Given the description of an element on the screen output the (x, y) to click on. 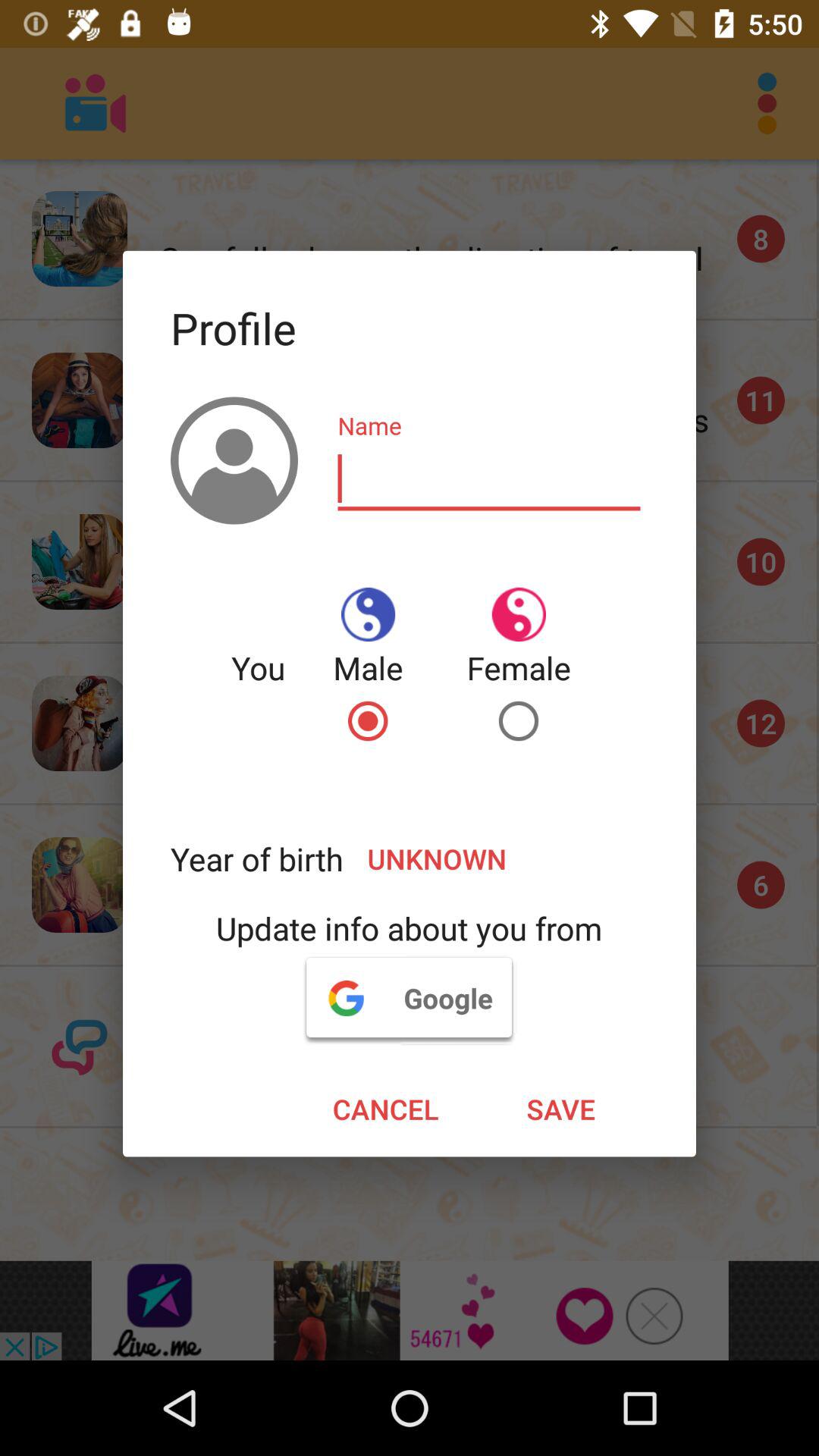
click the google icon (408, 997)
